Given the description of an element on the screen output the (x, y) to click on. 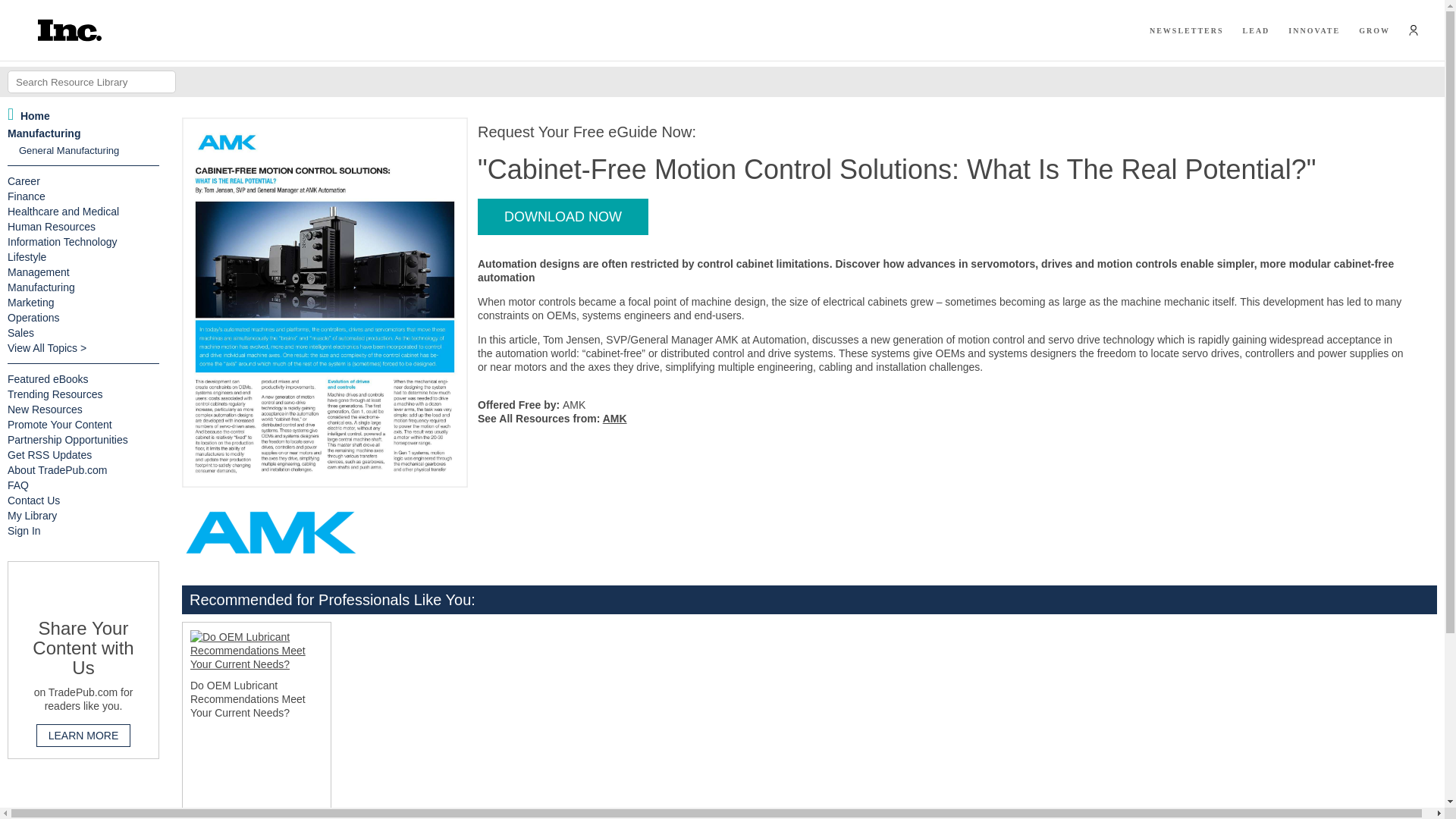
Continue to Grow on Inc.com (1374, 30)
Continue to Newsletters on Inc.com (1187, 30)
Continue to Lead on Inc.com (1256, 30)
Continue to Innovate on Inc.com (1313, 30)
